Given the description of an element on the screen output the (x, y) to click on. 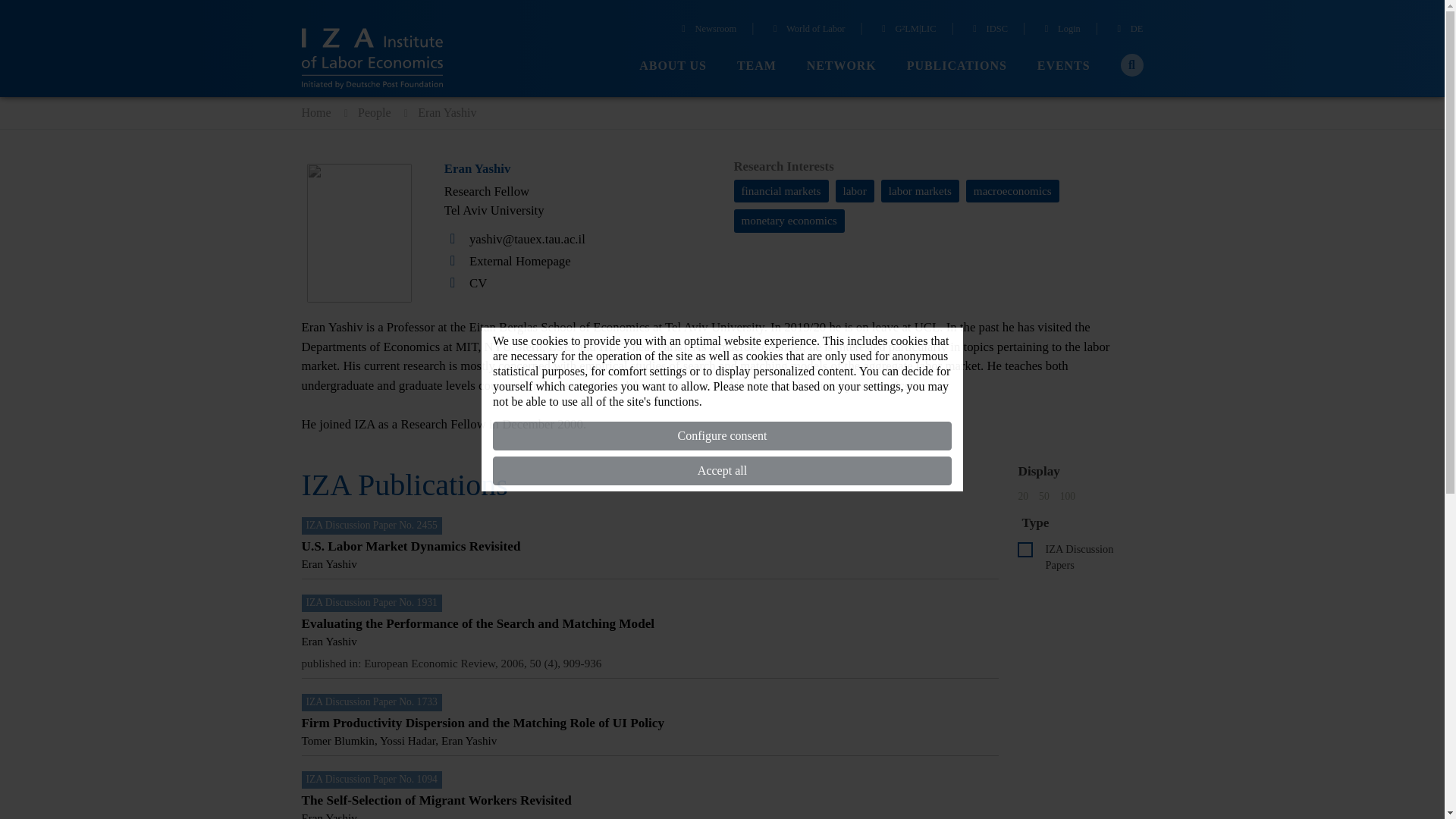
Newsroom (707, 30)
TEAM (756, 66)
NETWORK (841, 66)
World of Labor (807, 30)
Login (1060, 30)
dp (1024, 549)
ABOUT US (672, 66)
PUBLICATIONS (957, 66)
EVENTS (1063, 66)
IDSC (988, 30)
DE (1127, 30)
